Given the description of an element on the screen output the (x, y) to click on. 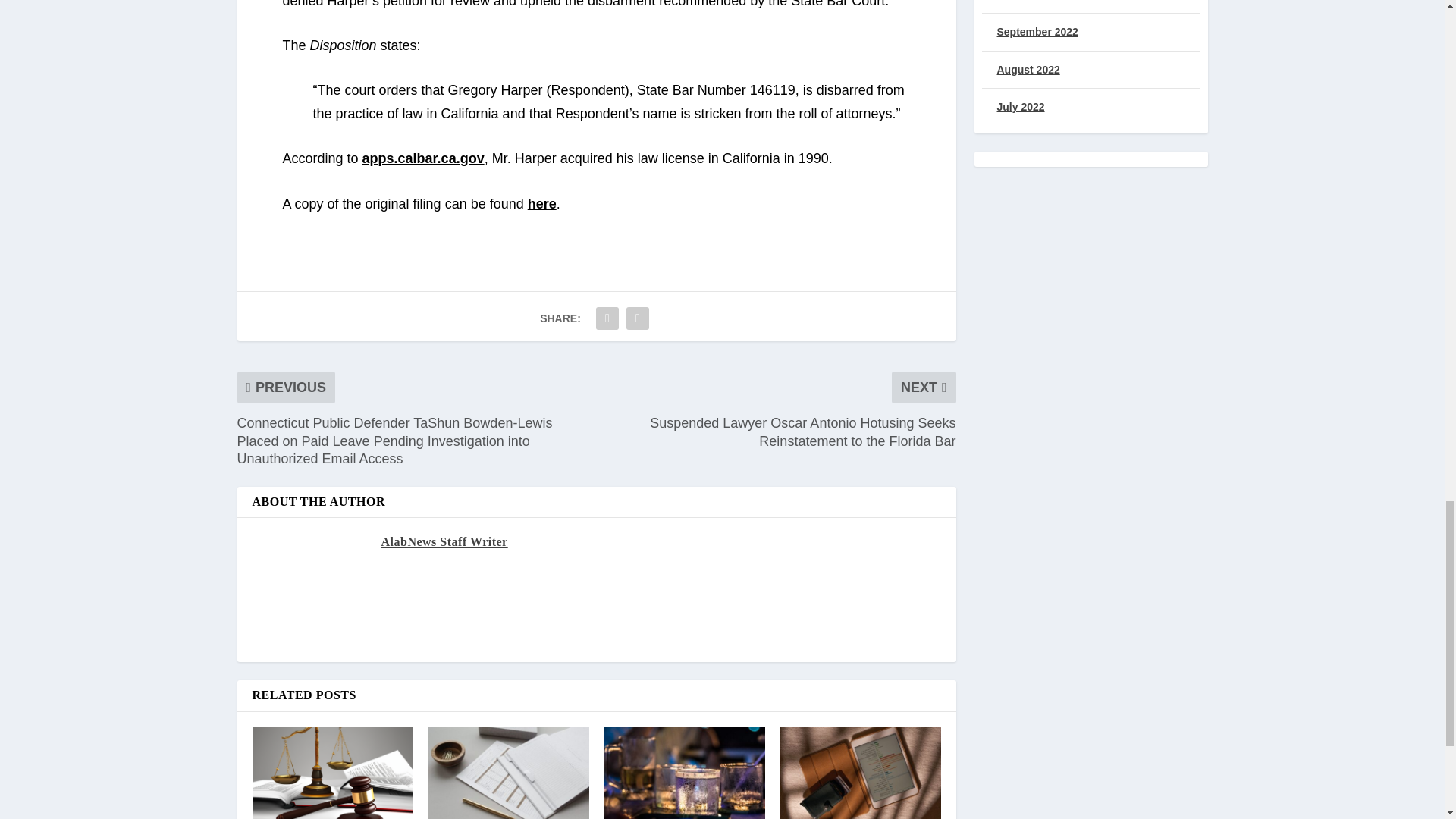
AlabNews Staff Writer (443, 541)
apps.calbar.ca.gov (423, 158)
here (541, 203)
View all posts by AlabNews Staff Writer (443, 541)
